Given the description of an element on the screen output the (x, y) to click on. 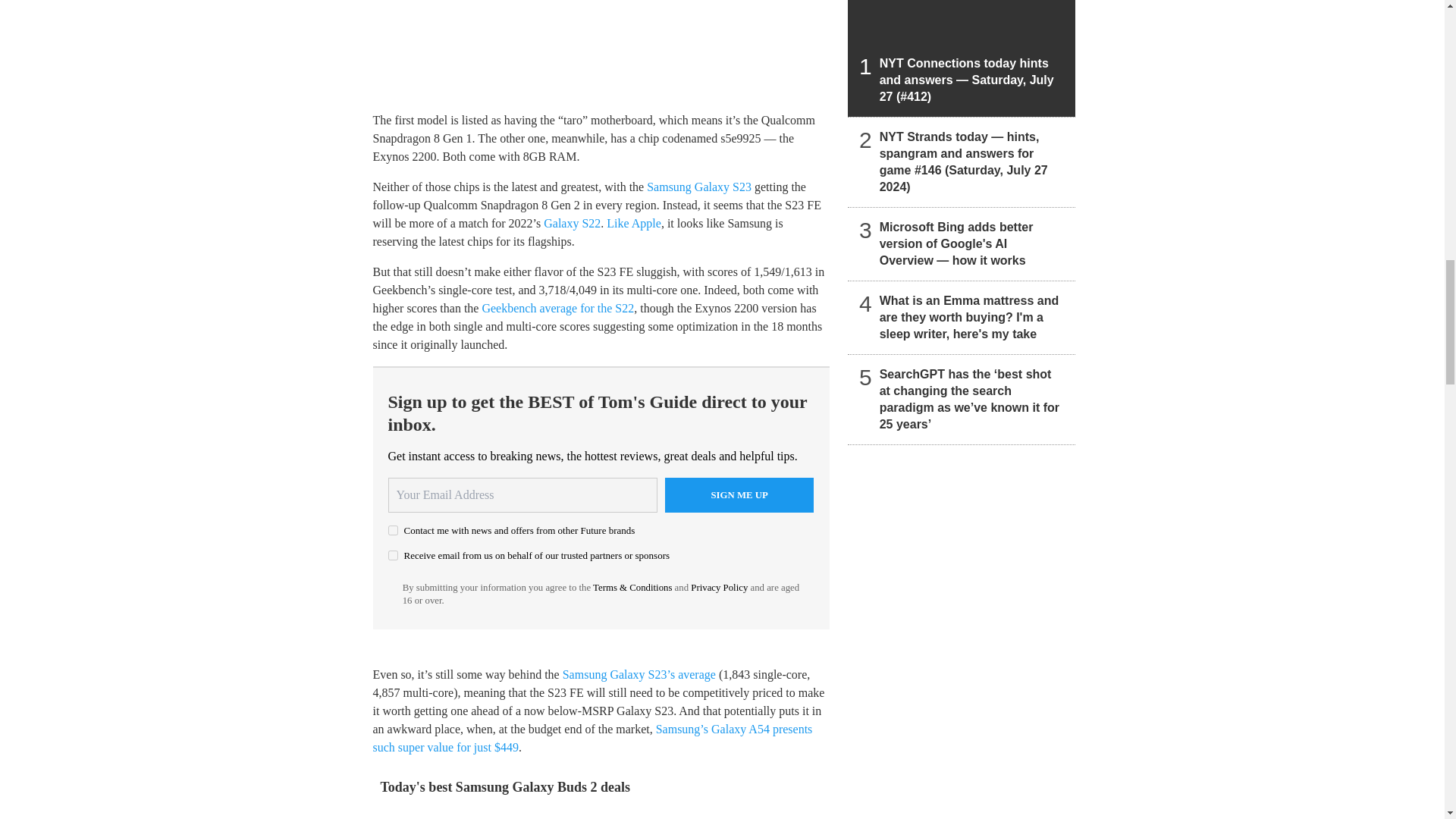
on (392, 530)
on (392, 555)
SAMSUNG Galaxy Buds 2 True... (437, 817)
Sign me up (739, 494)
